Given the description of an element on the screen output the (x, y) to click on. 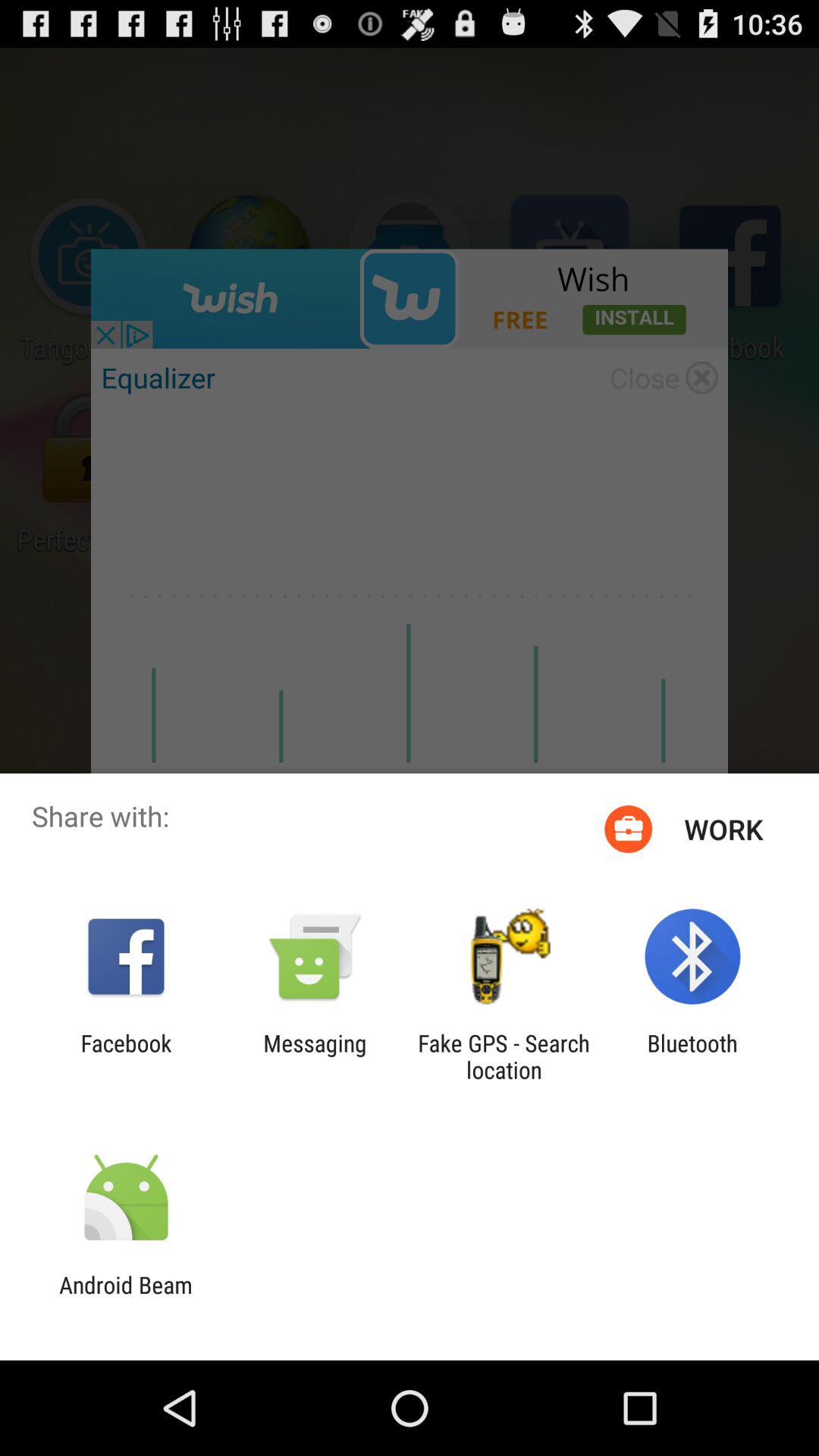
press app to the left of the bluetooth icon (503, 1056)
